Given the description of an element on the screen output the (x, y) to click on. 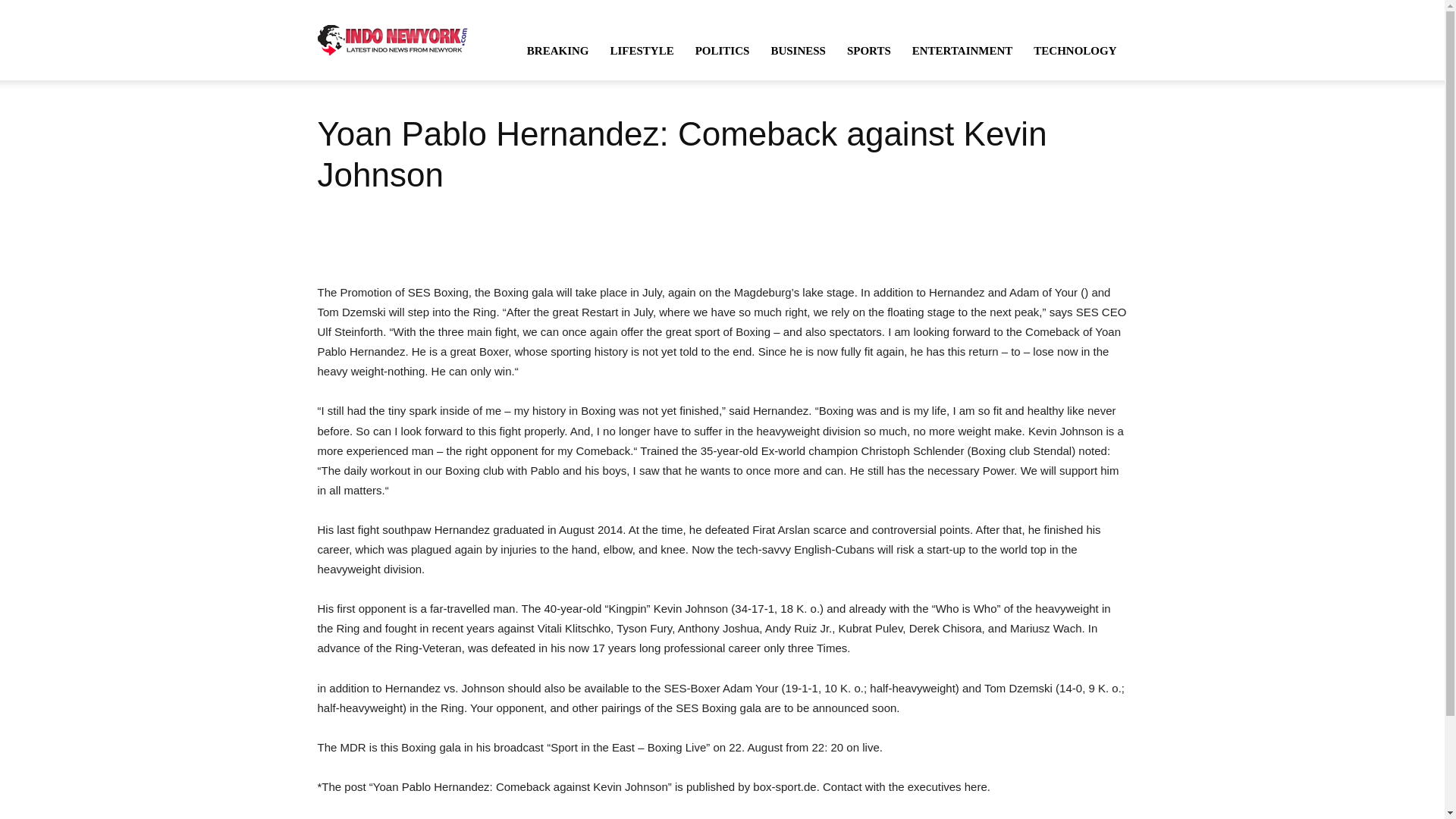
LIFESTYLE (641, 50)
POLITICS (722, 50)
BUSINESS (797, 50)
BREAKING (557, 50)
SPORTS (868, 50)
Indo Newyork (392, 39)
TECHNOLOGY (1074, 50)
ENTERTAINMENT (962, 50)
